Given the description of an element on the screen output the (x, y) to click on. 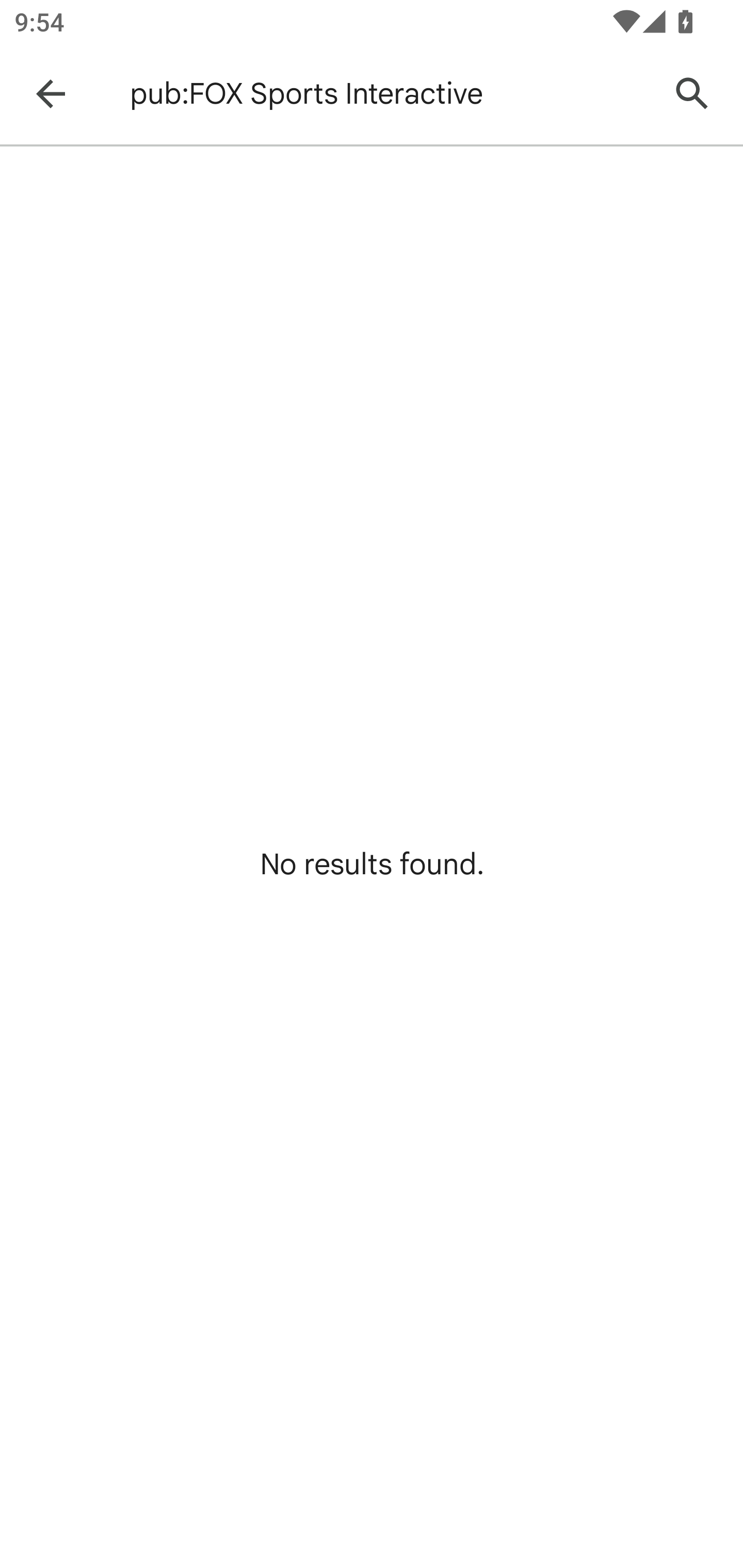
pub:FOX Sports Interactive (389, 93)
Navigate up (50, 93)
Search Google Play (692, 93)
